Given the description of an element on the screen output the (x, y) to click on. 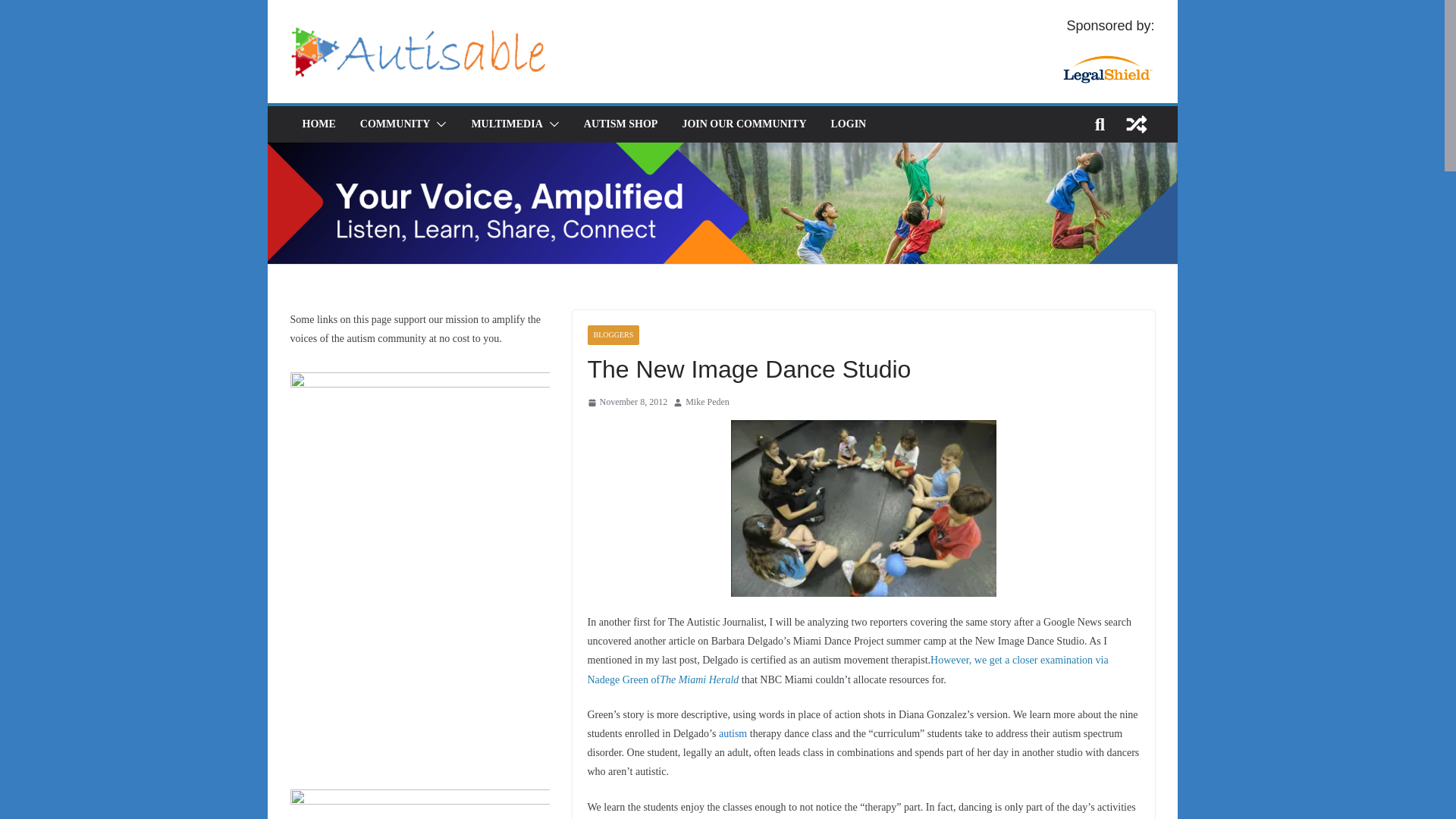
Mike Peden (707, 402)
Autism and Adolescence (732, 733)
November 8, 2012 (626, 402)
BLOGGERS (612, 334)
MULTIMEDIA (505, 124)
View a random post (1136, 124)
Mike Peden (707, 402)
COMMUNITY (394, 124)
However, we get a closer examination via Nadege Green of (847, 669)
autism (732, 733)
